Given the description of an element on the screen output the (x, y) to click on. 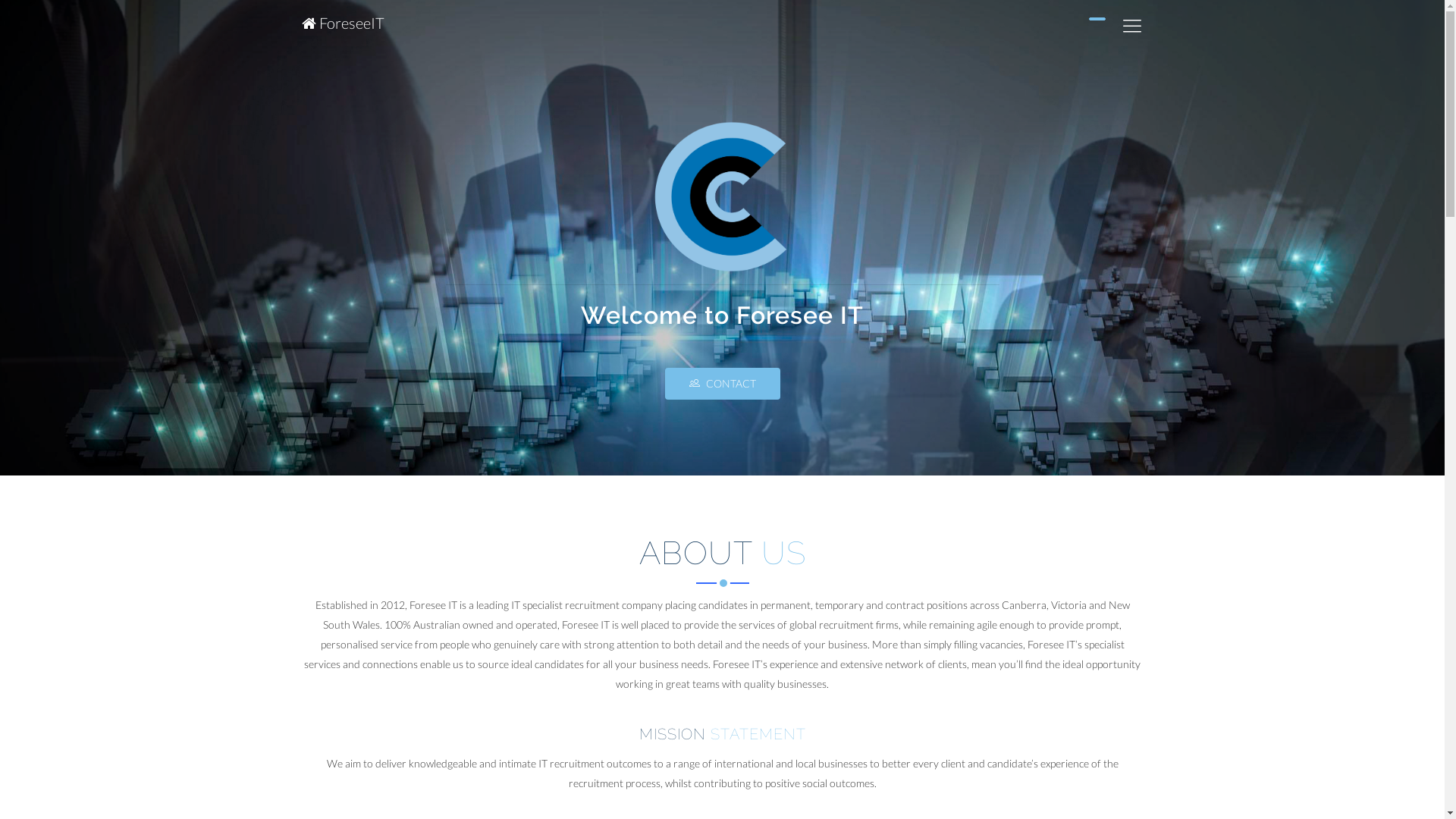
ForeseeIT Element type: text (342, 22)
CONTACT Element type: text (721, 383)
